Given the description of an element on the screen output the (x, y) to click on. 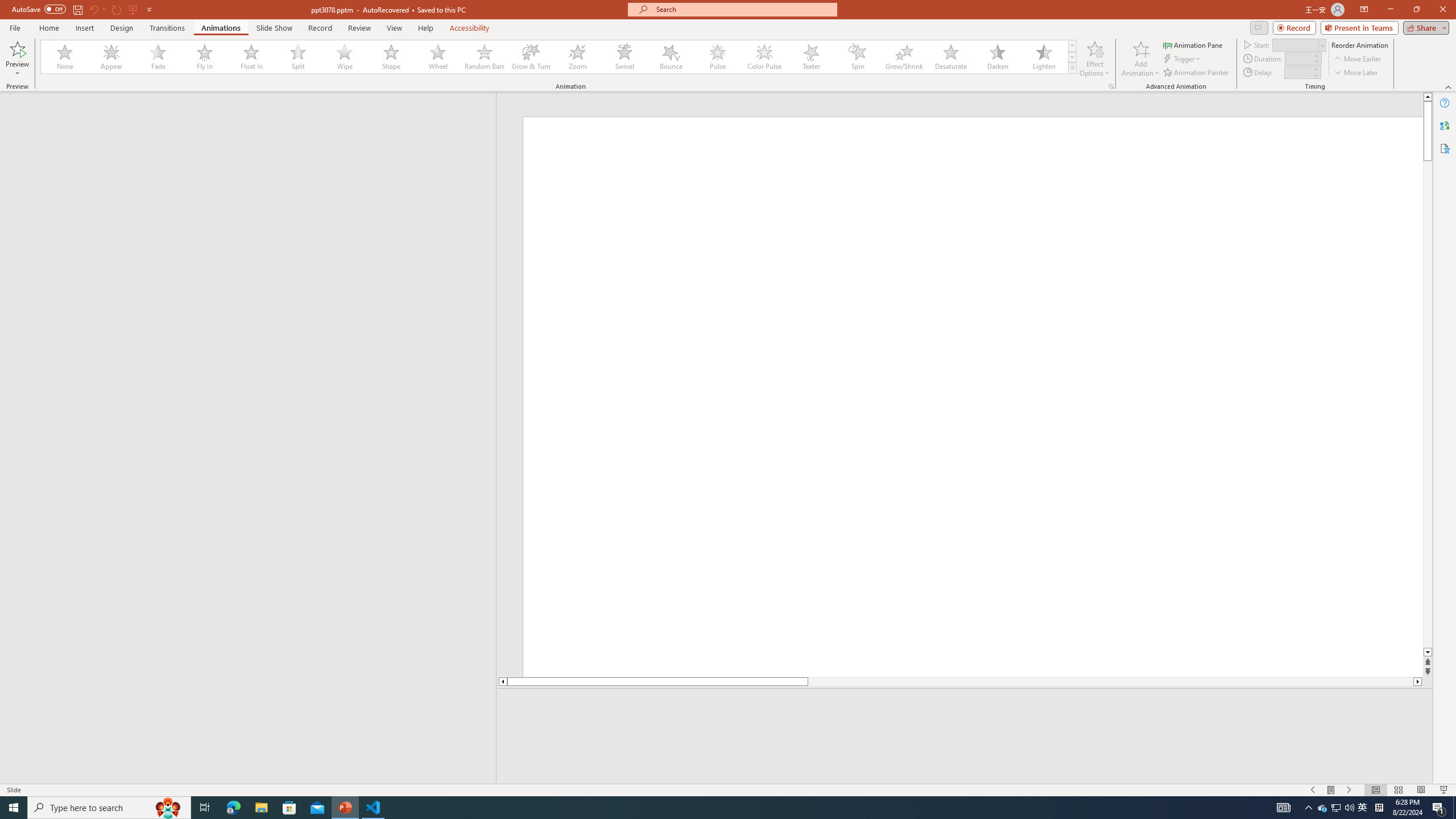
Animation Pane (1193, 44)
Animation Duration (1298, 58)
Wheel (437, 56)
Move Earlier (1357, 58)
More Options... (1110, 85)
Lighten (1043, 56)
